Given the description of an element on the screen output the (x, y) to click on. 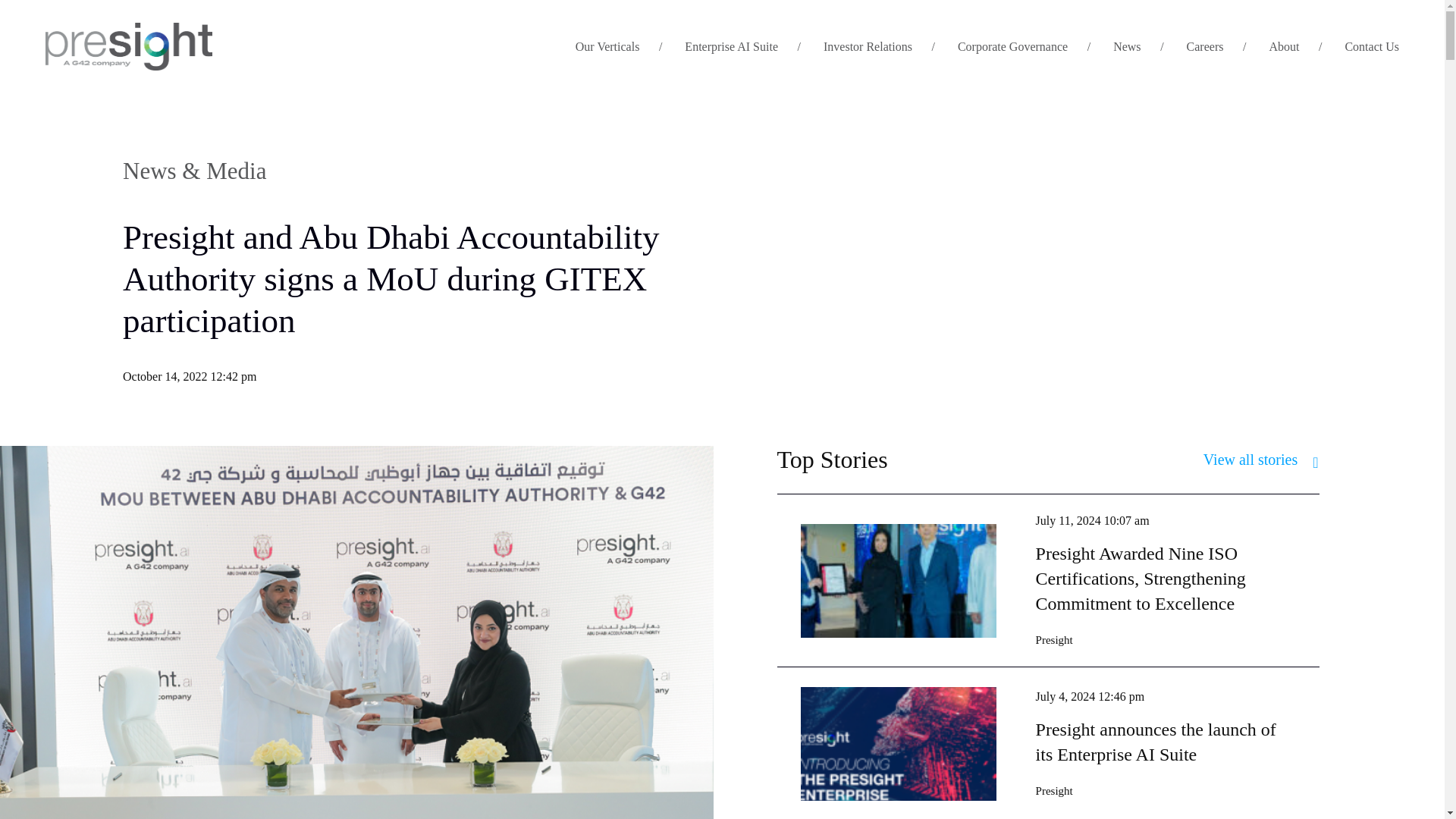
News (1126, 46)
Investor Relations (868, 46)
Corporate Governance (1012, 46)
Careers (1205, 46)
Our Verticals (607, 46)
About (1283, 46)
Enterprise AI Suite (730, 46)
